Given the description of an element on the screen output the (x, y) to click on. 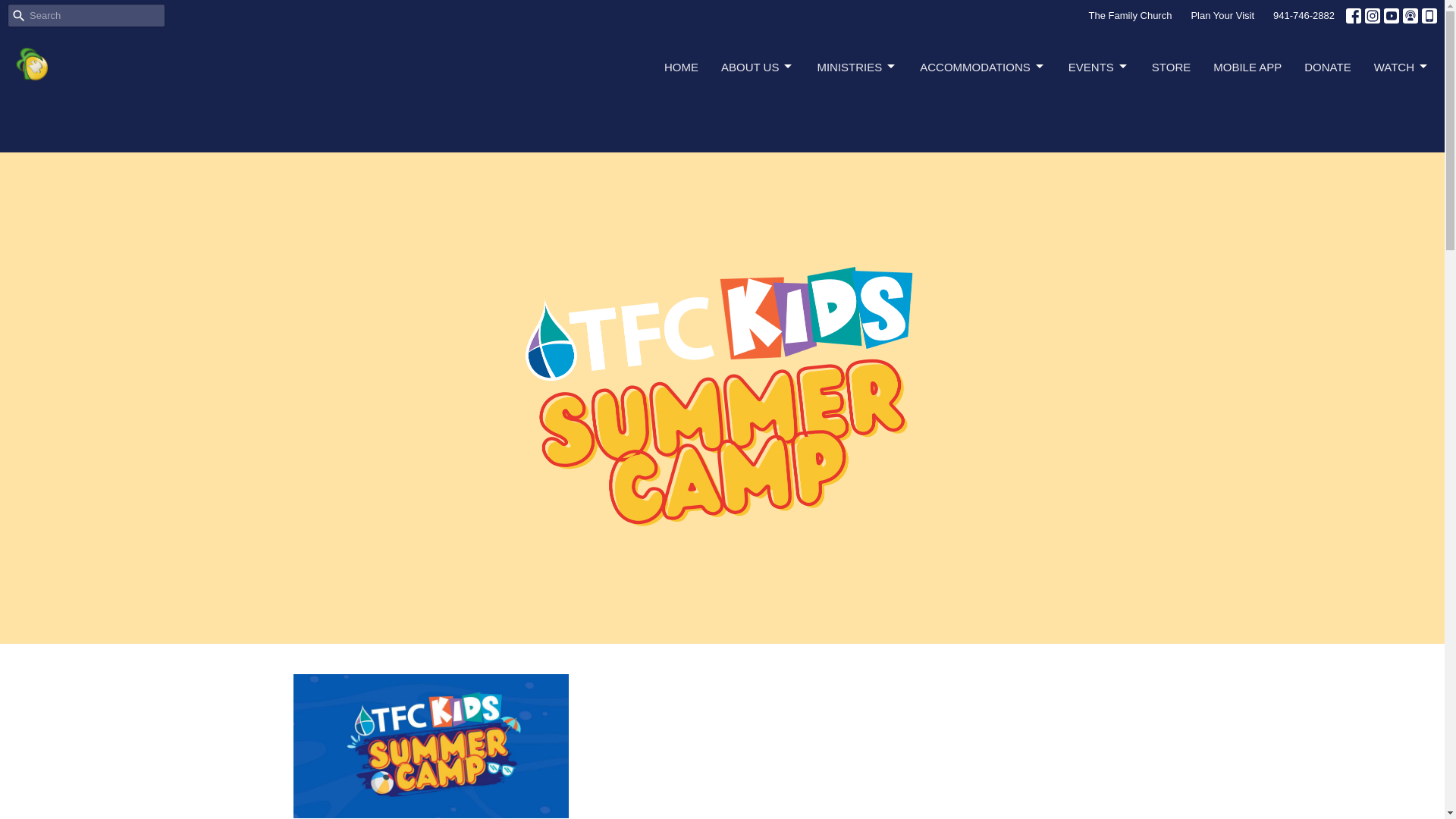
EVENTS (1098, 66)
HOME (680, 66)
The Family Church (1130, 15)
MINISTRIES (856, 66)
941-746-2882 (1303, 15)
ABOUT US (756, 66)
ACCOMMODATIONS (982, 66)
Plan Your Visit (1222, 15)
